Given the description of an element on the screen output the (x, y) to click on. 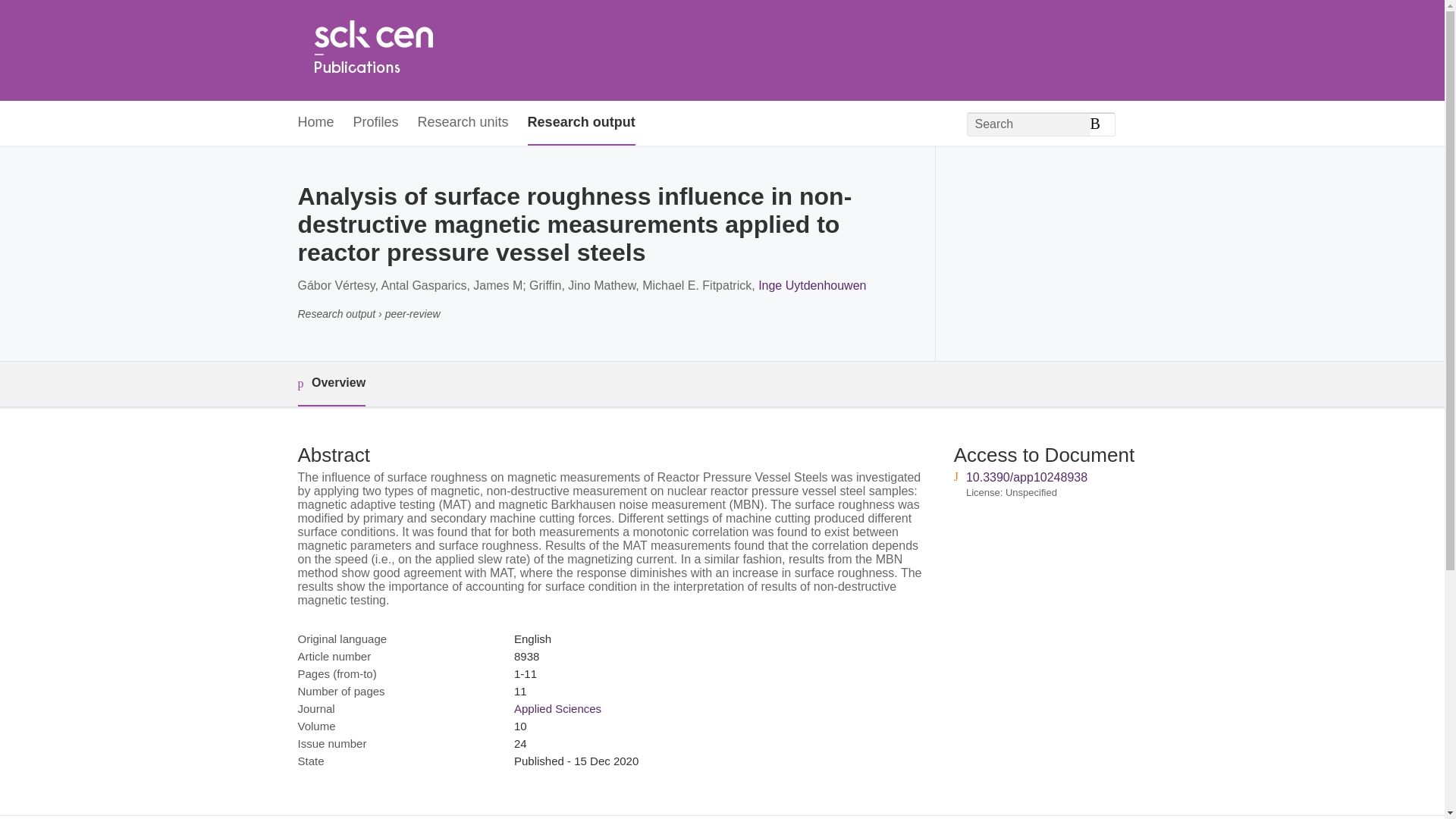
Inge Uytdenhouwen (812, 285)
Research units (462, 122)
Home (372, 50)
Profiles (375, 122)
Overview (331, 383)
Research output (580, 122)
Applied Sciences (557, 707)
